Given the description of an element on the screen output the (x, y) to click on. 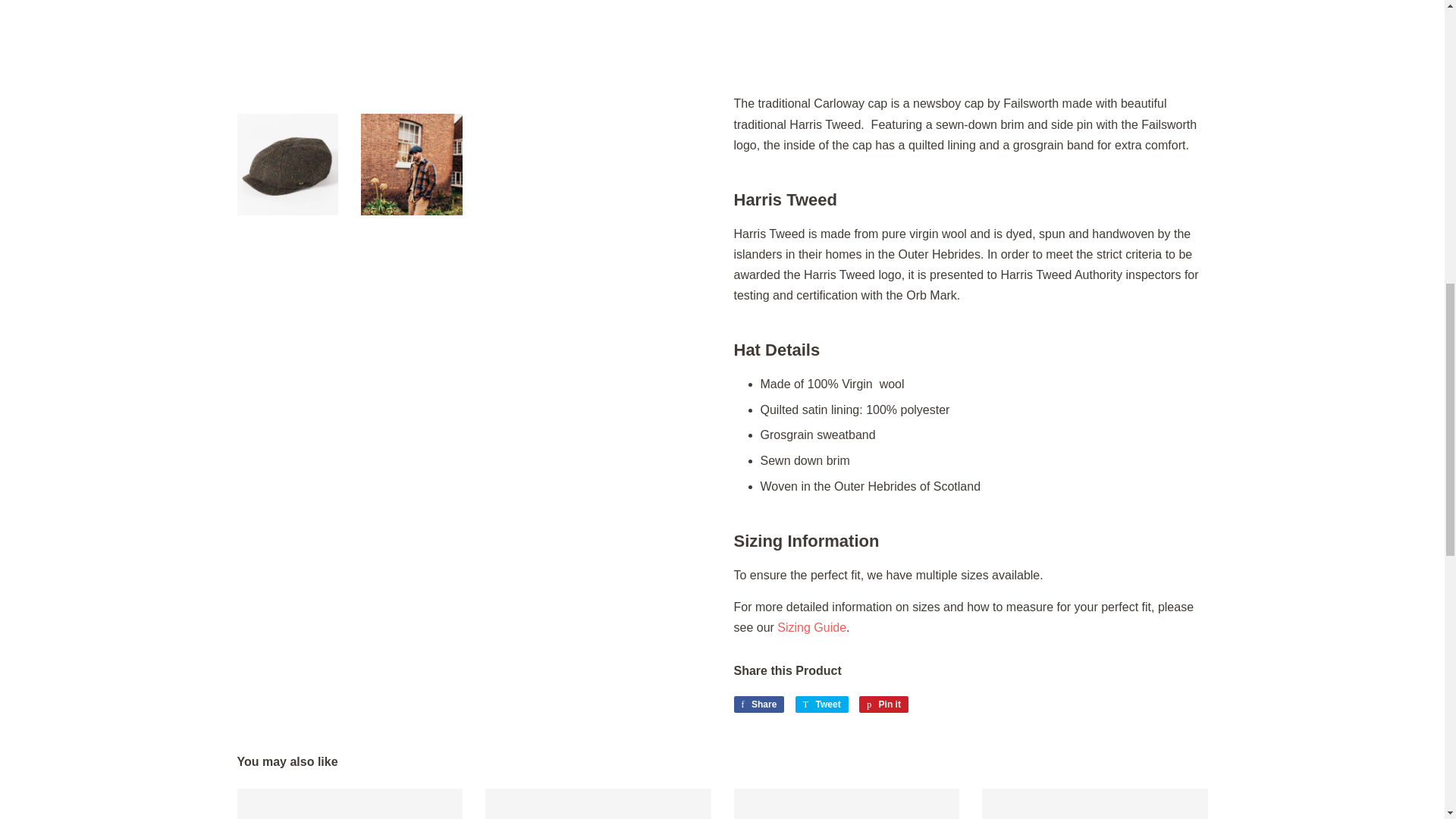
Share on Facebook (758, 704)
Tweet on Twitter (821, 704)
The Hat Shop Salisbury Sizing Guide (811, 626)
Pin on Pinterest (883, 704)
